Given the description of an element on the screen output the (x, y) to click on. 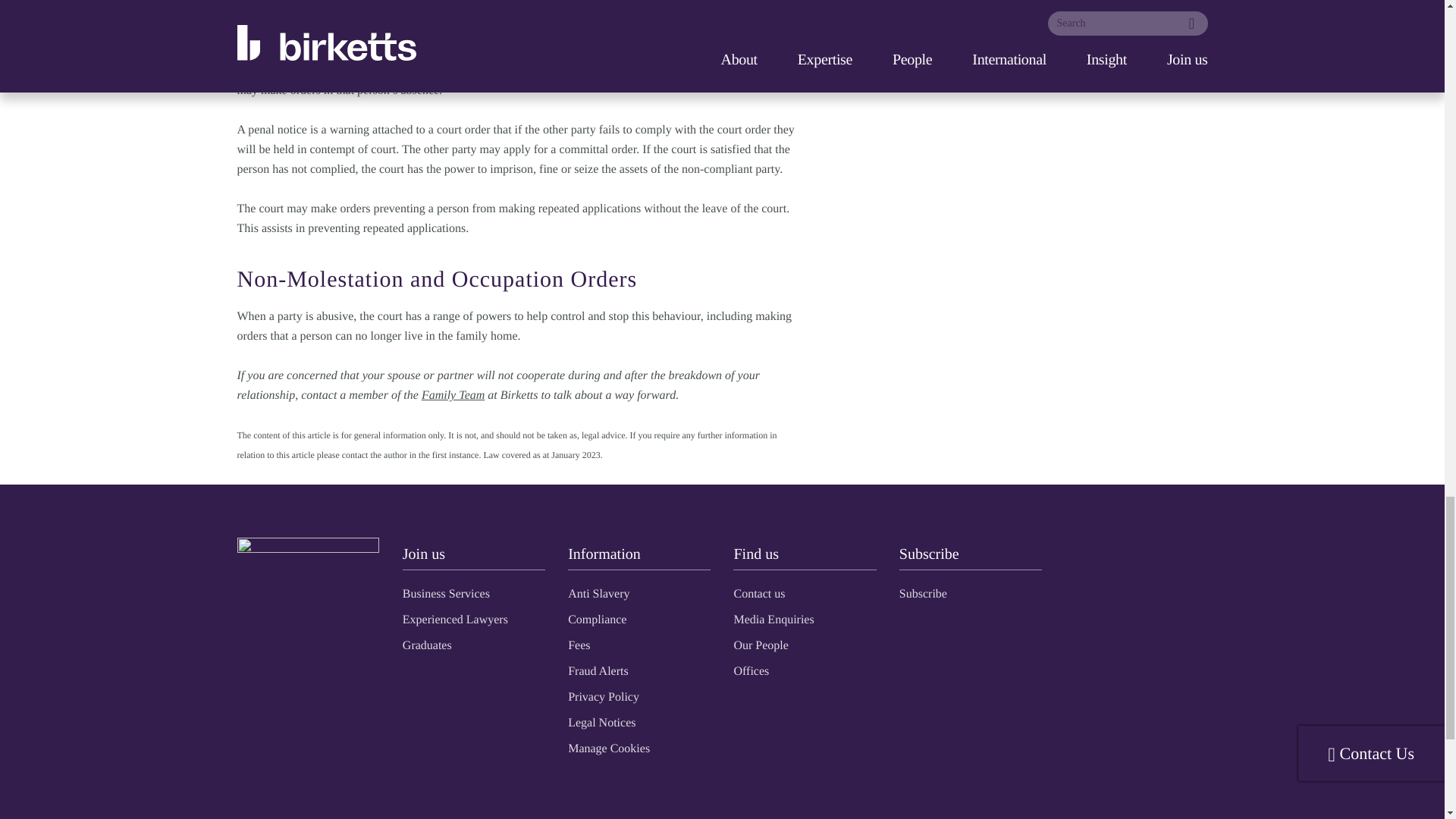
Manage Cookies (608, 748)
Anti Slavery  (597, 593)
Media Enquiries (773, 618)
Fees (578, 644)
Privacy Policy (603, 696)
Fraud Alerts (597, 670)
Subscribe (923, 593)
Our People (760, 644)
Business Services (446, 593)
Offices (750, 670)
